Given the description of an element on the screen output the (x, y) to click on. 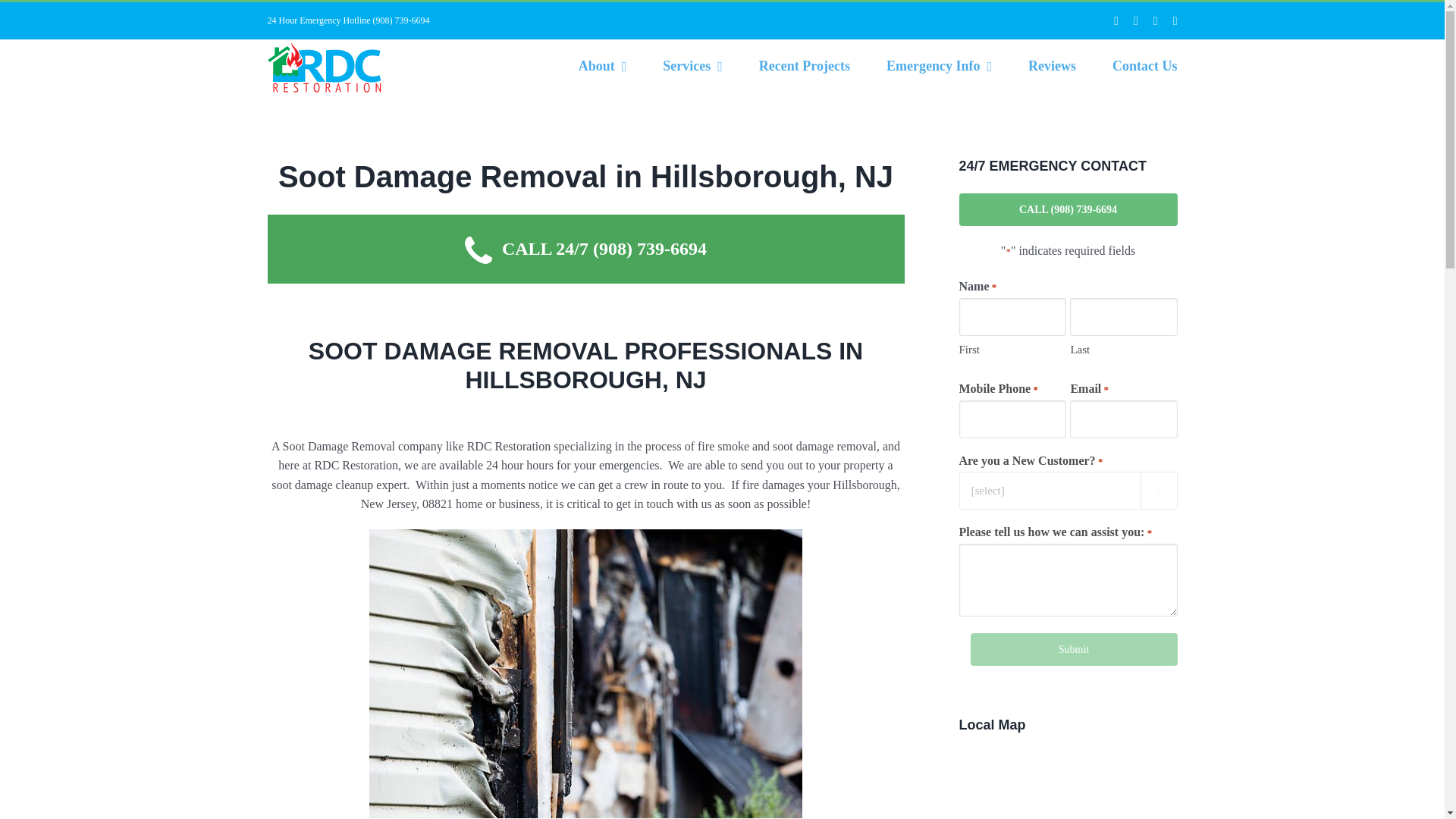
Contact Us (1144, 65)
About (602, 65)
Services (692, 65)
Recent Projects (804, 65)
Emergency Info (938, 65)
Submit (1074, 649)
Reviews (1051, 65)
